Given the description of an element on the screen output the (x, y) to click on. 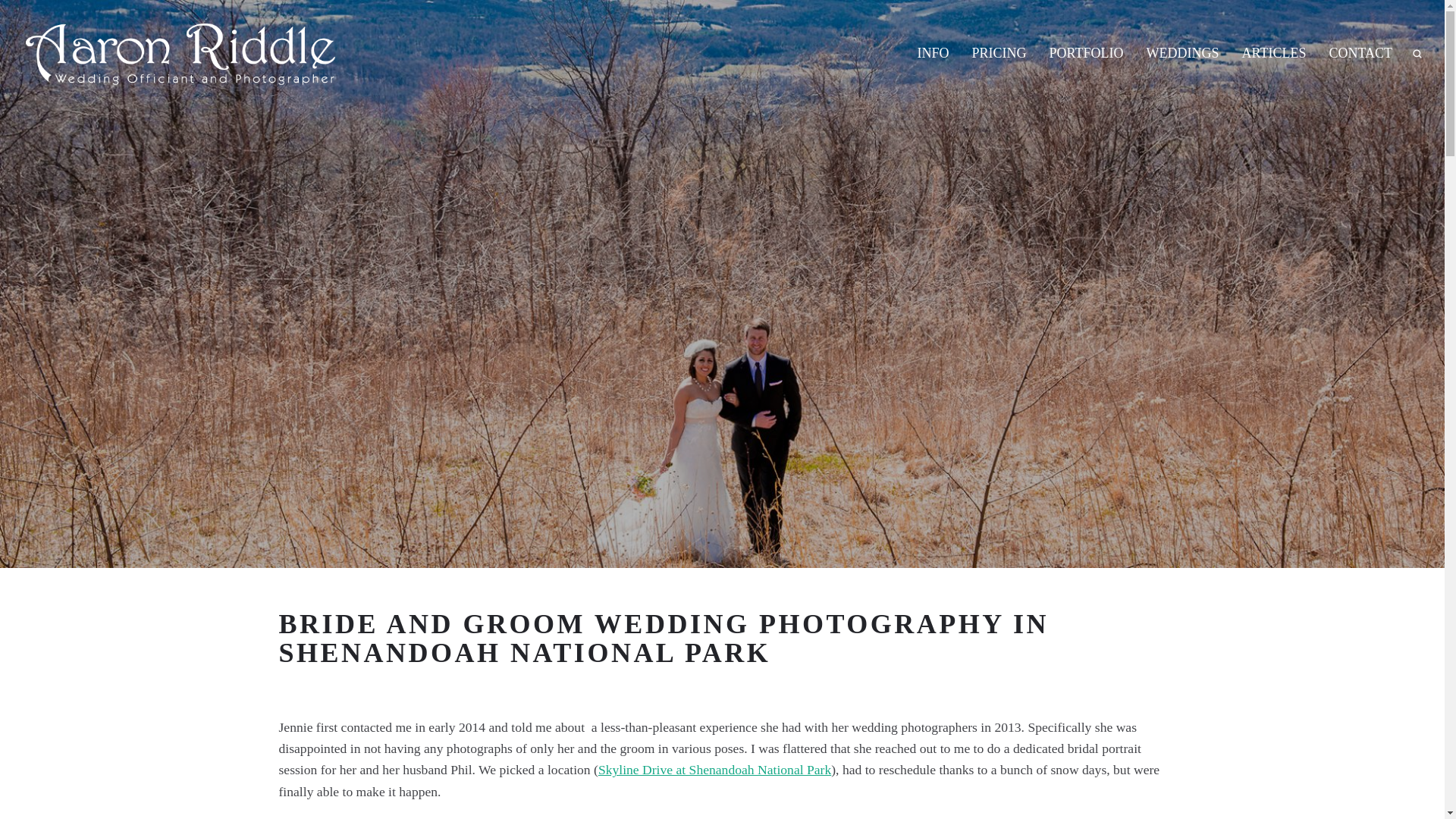
CONTACT (1360, 52)
PRICING (999, 52)
Search (1417, 52)
INFO (933, 52)
Search (1417, 52)
Skyline Drive at Shenandoah National Park (714, 769)
WEDDINGS (1182, 52)
PORTFOLIO (1085, 52)
ARTICLES (1274, 52)
